Given the description of an element on the screen output the (x, y) to click on. 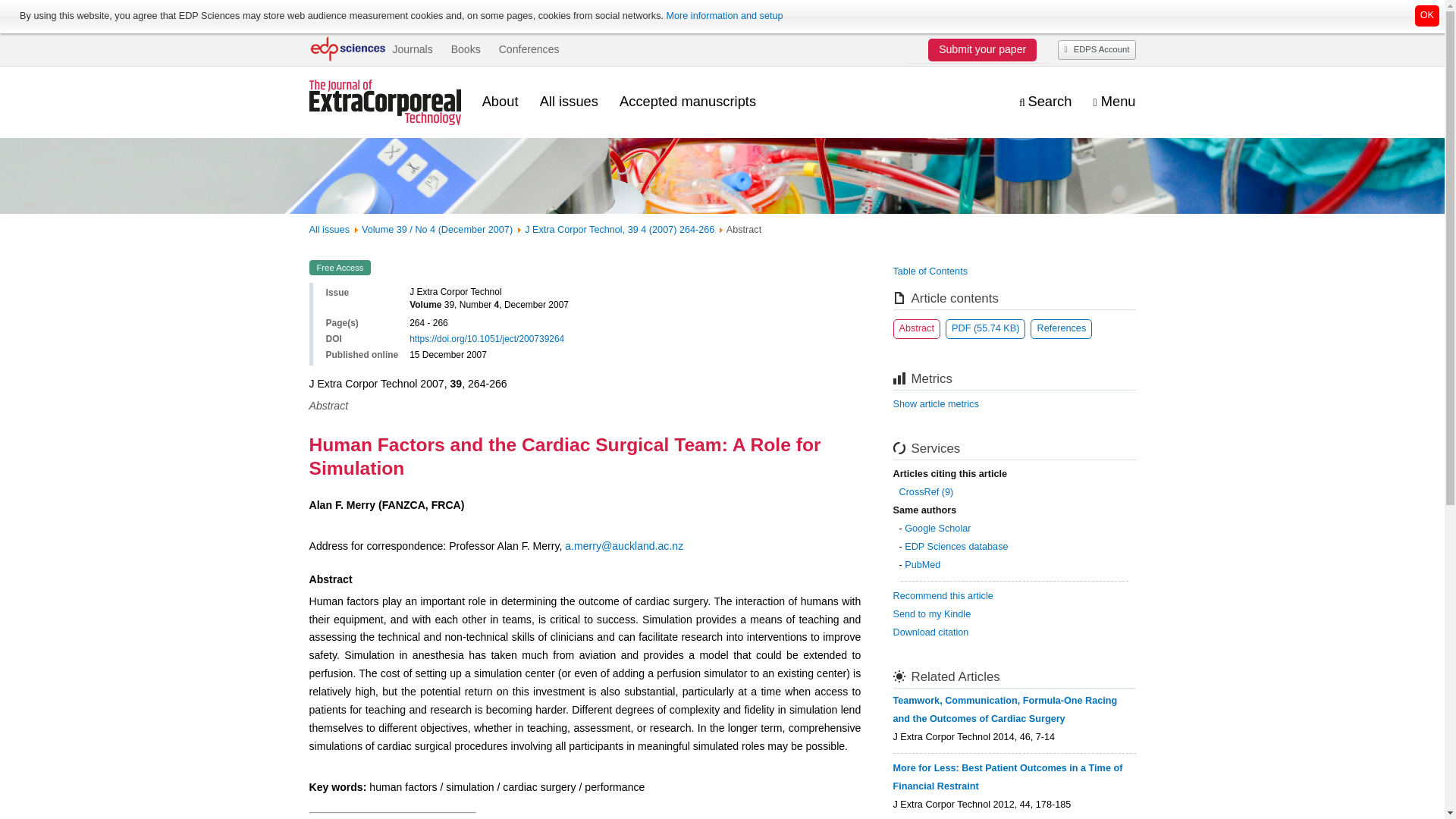
Menu (1114, 102)
Display the search engine (1045, 102)
Send this article to my Kindle (932, 614)
Journal homepage (384, 102)
Conferences (529, 49)
All issues (569, 101)
More information and setup (724, 15)
Journals (411, 49)
Abstract (916, 329)
OK (1427, 15)
